Given the description of an element on the screen output the (x, y) to click on. 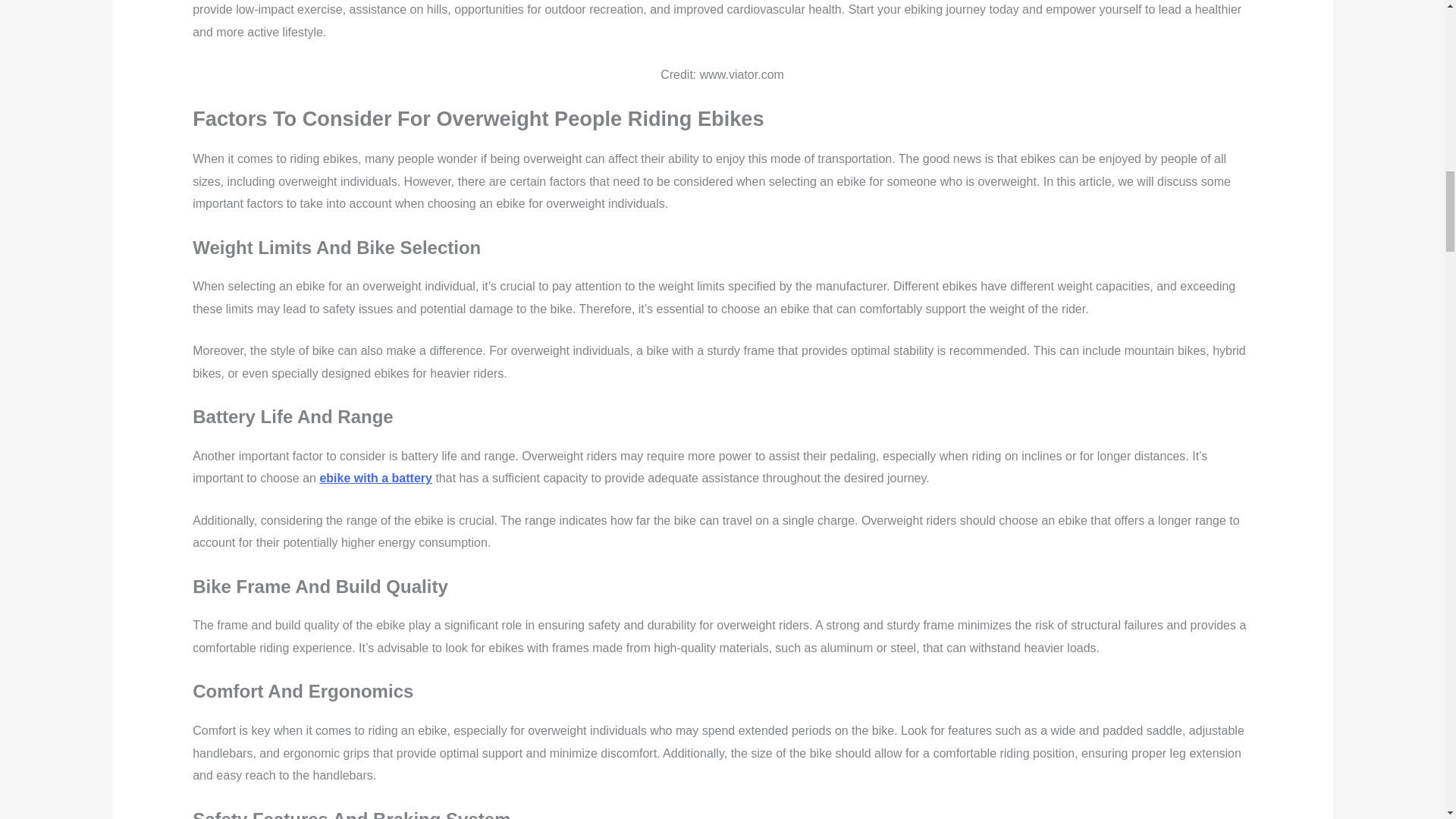
ebike with a battery (375, 477)
